Given the description of an element on the screen output the (x, y) to click on. 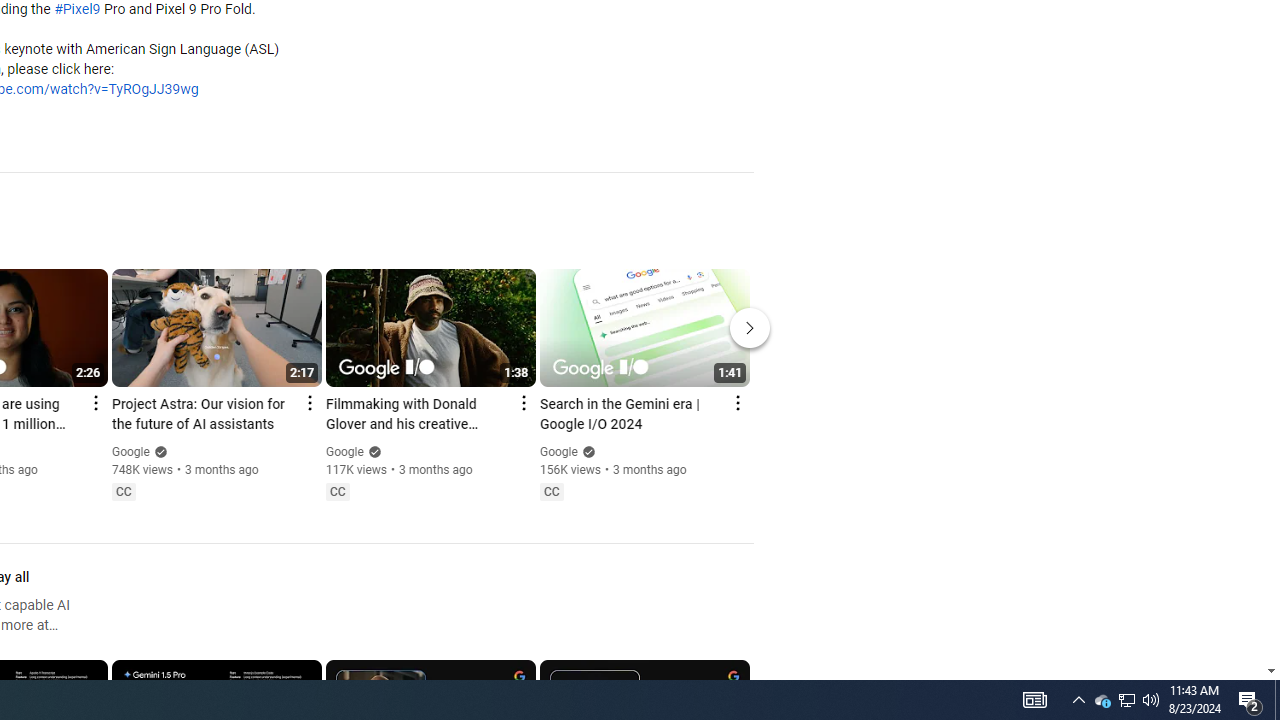
Closed captions (551, 492)
#Pixel9 (77, 10)
